Given the description of an element on the screen output the (x, y) to click on. 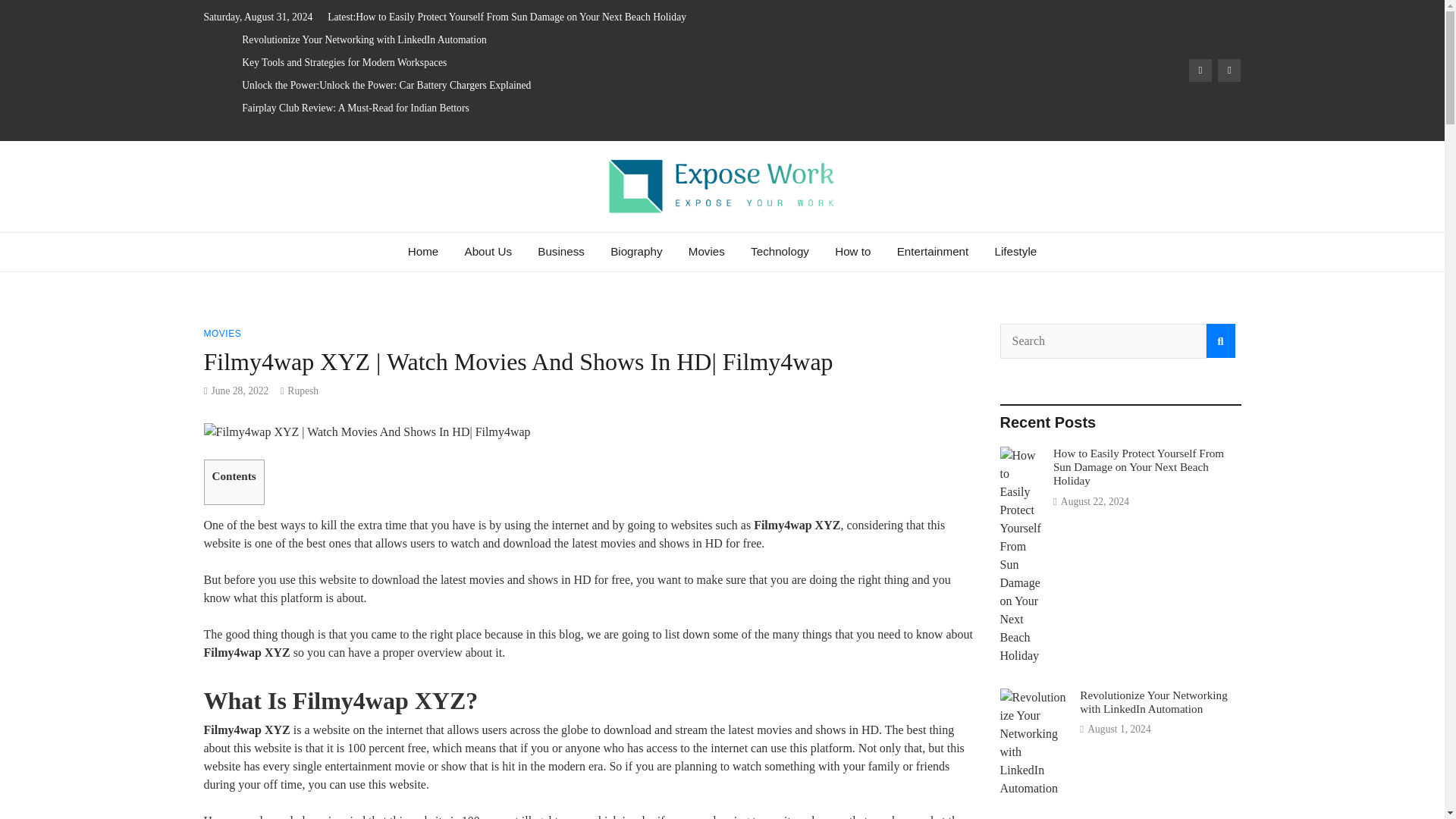
Lifestyle (1015, 251)
Key Tools and Strategies for Modern Workspaces (343, 61)
Revolutionize Your Networking with LinkedIn Automation (363, 39)
Technology (780, 251)
Fairplay Club Review: A Must-Read for Indian Bettors (354, 107)
MOVIES (222, 333)
Movies (706, 251)
Entertainment (932, 251)
